Given the description of an element on the screen output the (x, y) to click on. 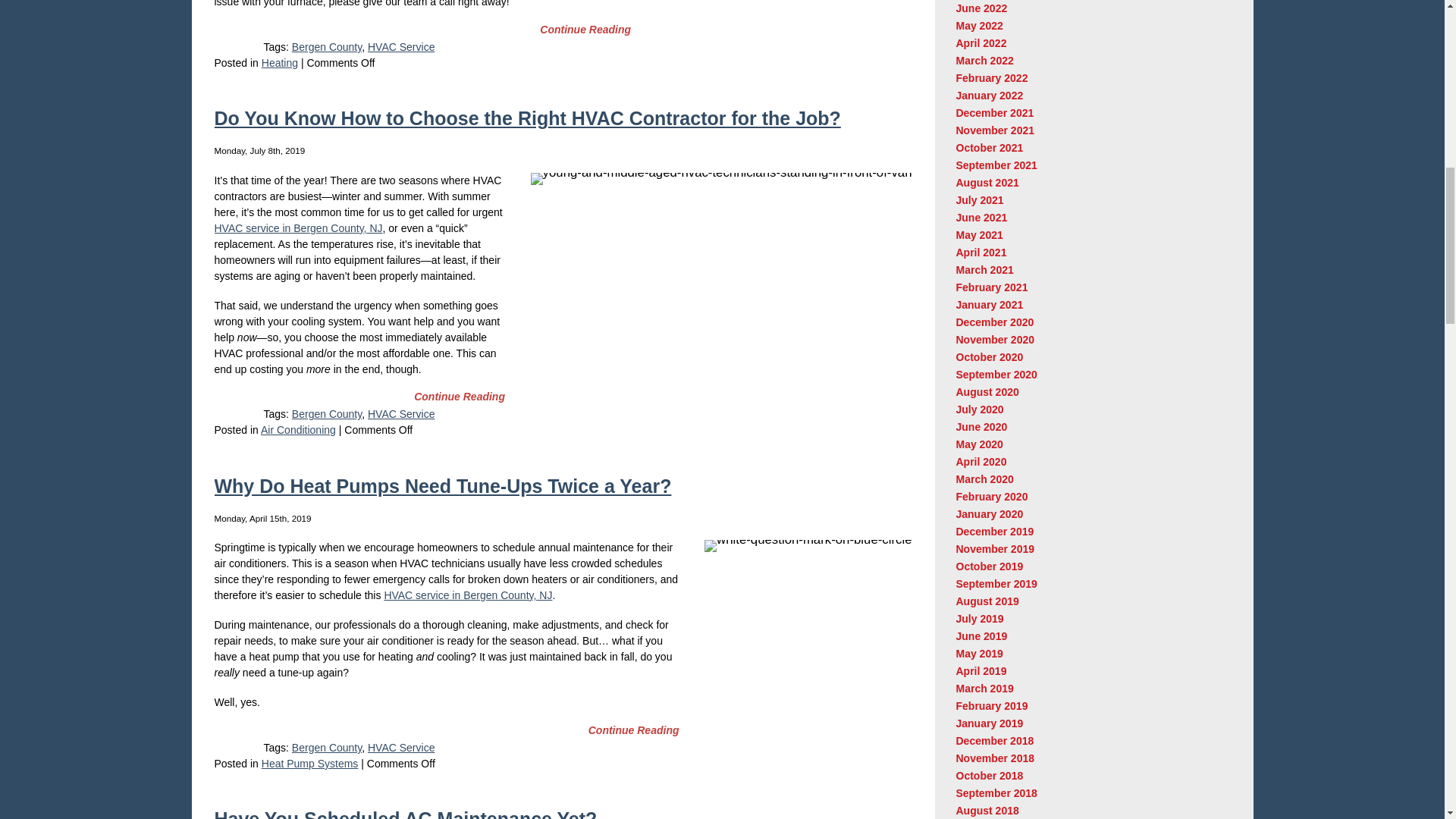
Permanent Link to Have You Scheduled AC Maintenance Yet? (405, 813)
